Given the description of an element on the screen output the (x, y) to click on. 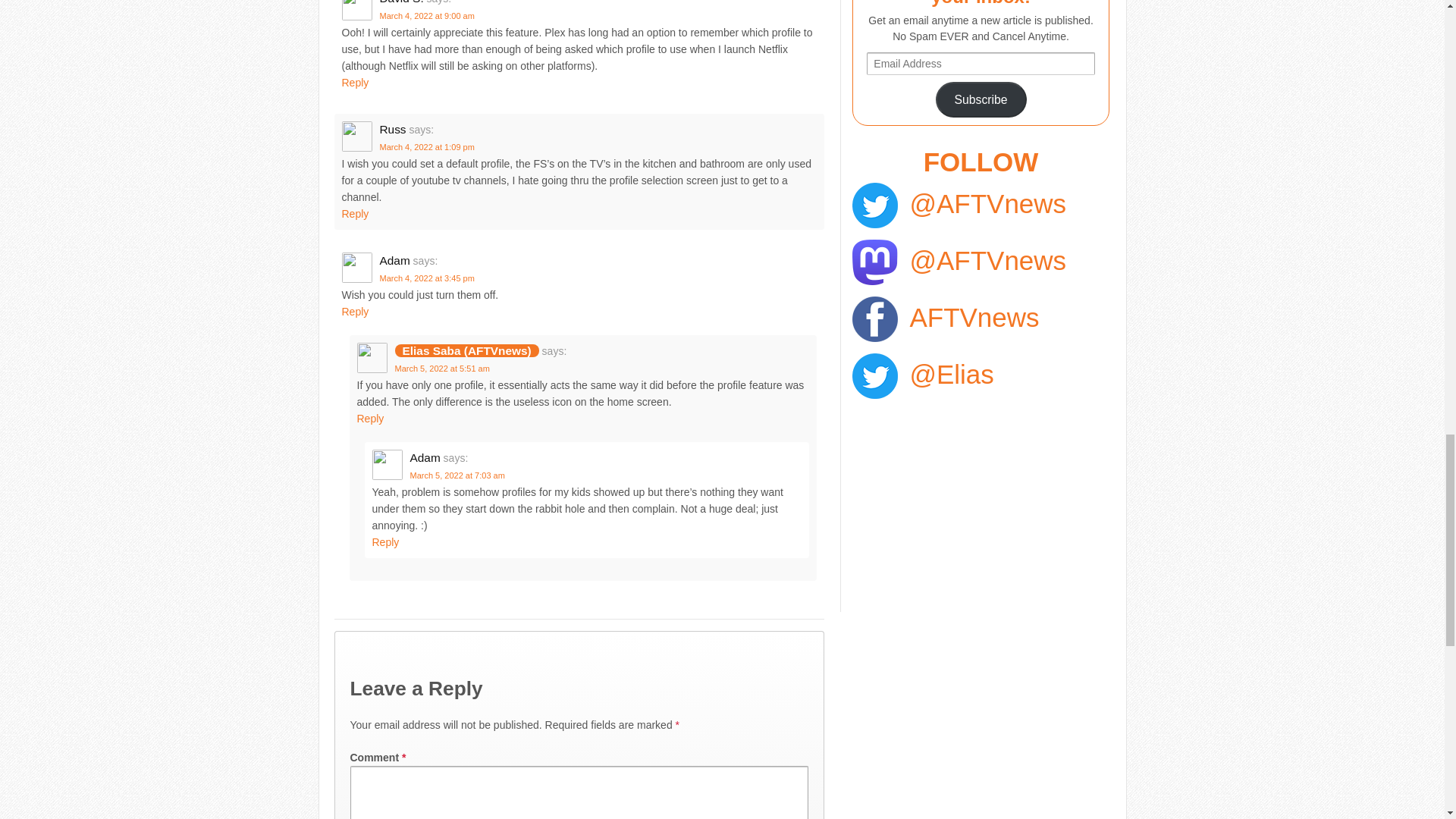
March 4, 2022 at 3:45 pm (426, 277)
March 4, 2022 at 9:00 am (426, 15)
Reply (354, 82)
March 4, 2022 at 1:09 pm (426, 146)
March 5, 2022 at 5:51 am (441, 368)
Reply (354, 214)
Reply (354, 311)
